Given the description of an element on the screen output the (x, y) to click on. 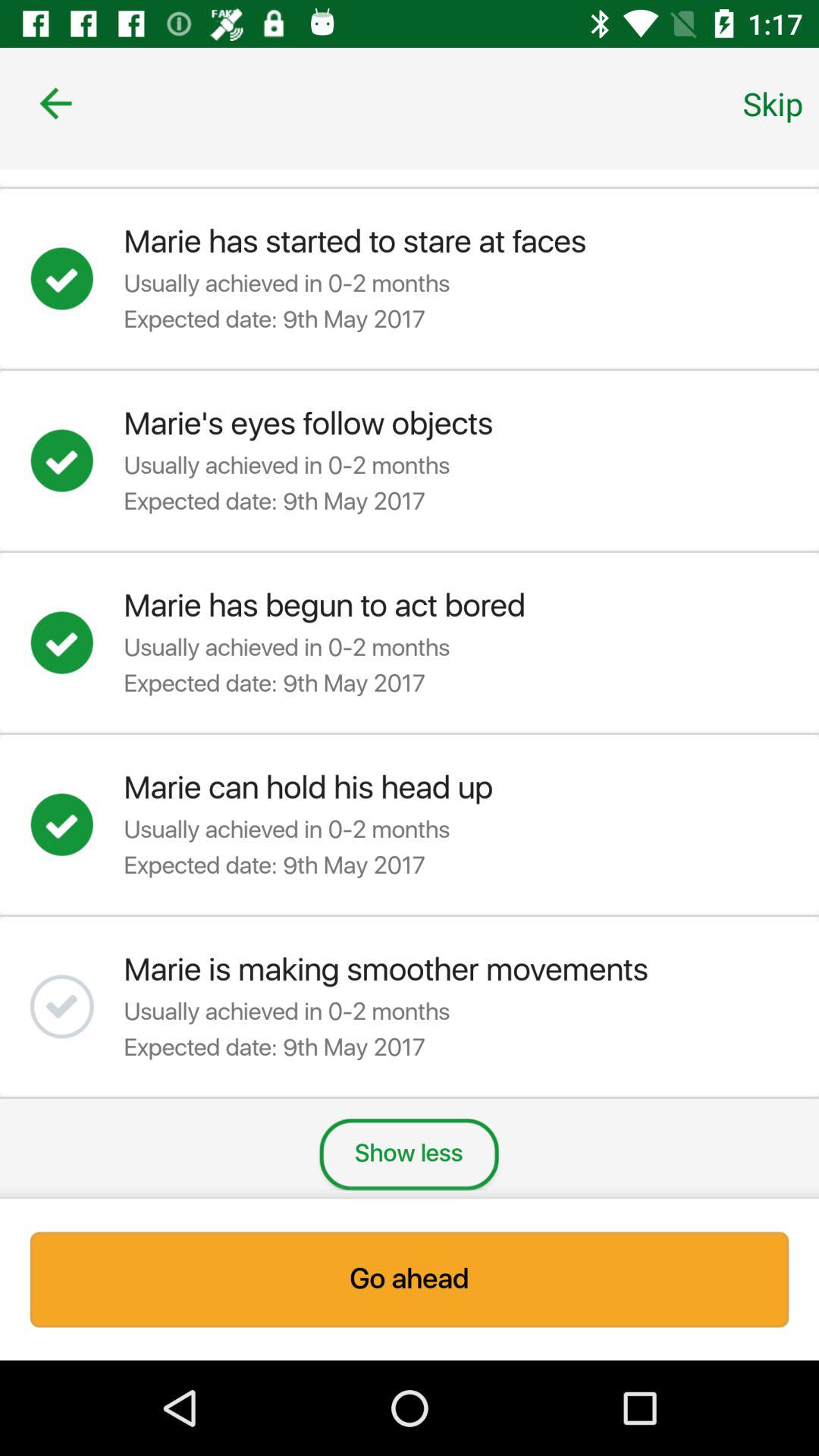
scroll to skip (772, 103)
